Given the description of an element on the screen output the (x, y) to click on. 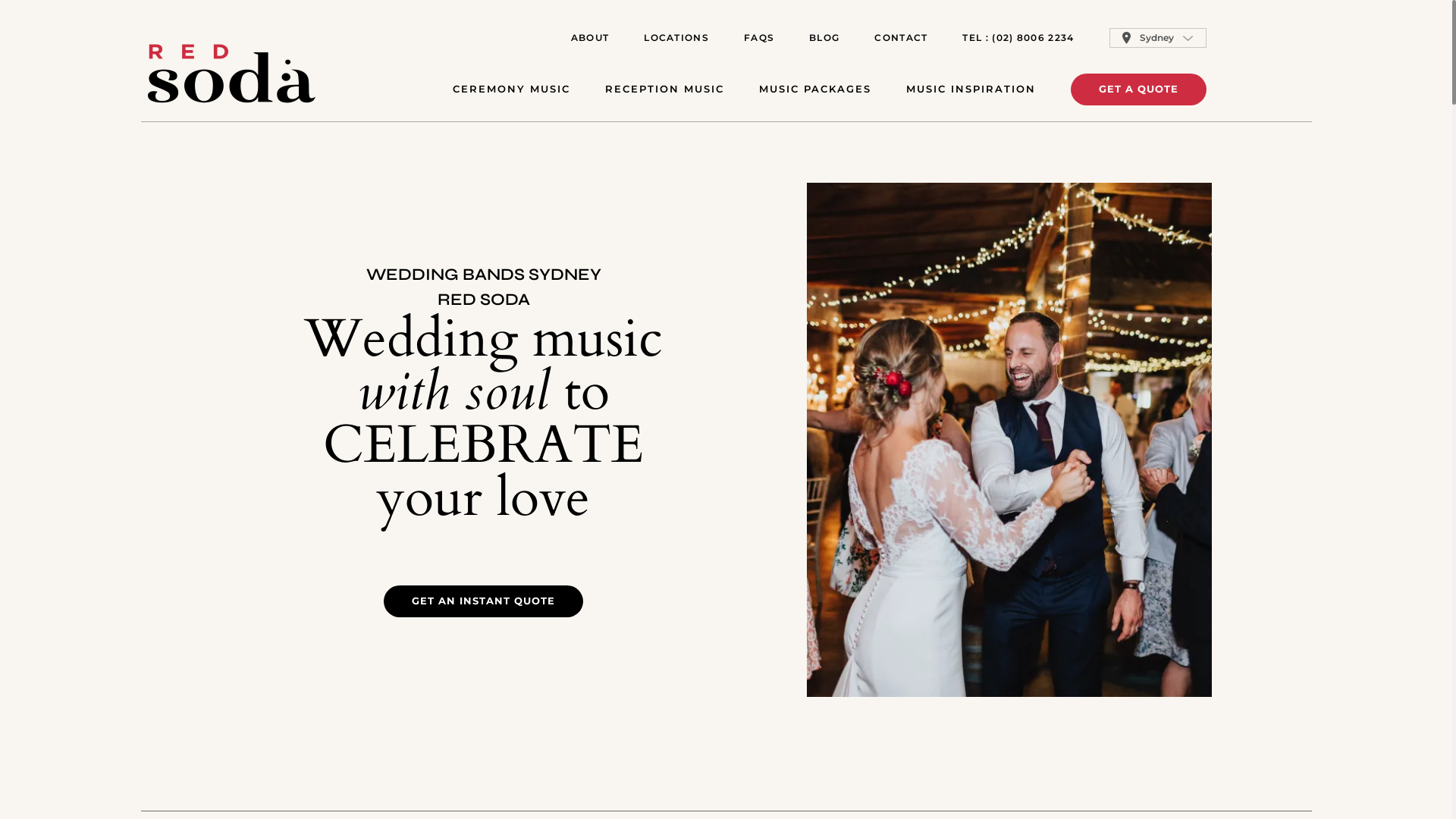
Sydney Element type: text (1156, 37)
MUSIC PACKAGES Element type: text (814, 89)
TEL : (02) 8006 2234 Element type: text (1017, 37)
RECEPTION MUSIC Element type: text (664, 89)
BLOG Element type: text (824, 37)
ABOUT Element type: text (590, 37)
GET A QUOTE Element type: text (1138, 89)
GET AN INSTANT QUOTE Element type: text (483, 601)
MUSIC INSPIRATION Element type: text (970, 89)
FAQS Element type: text (758, 37)
LOCATIONS Element type: text (676, 37)
CONTACT Element type: text (900, 37)
CEREMONY MUSIC Element type: text (510, 89)
